Given the description of an element on the screen output the (x, y) to click on. 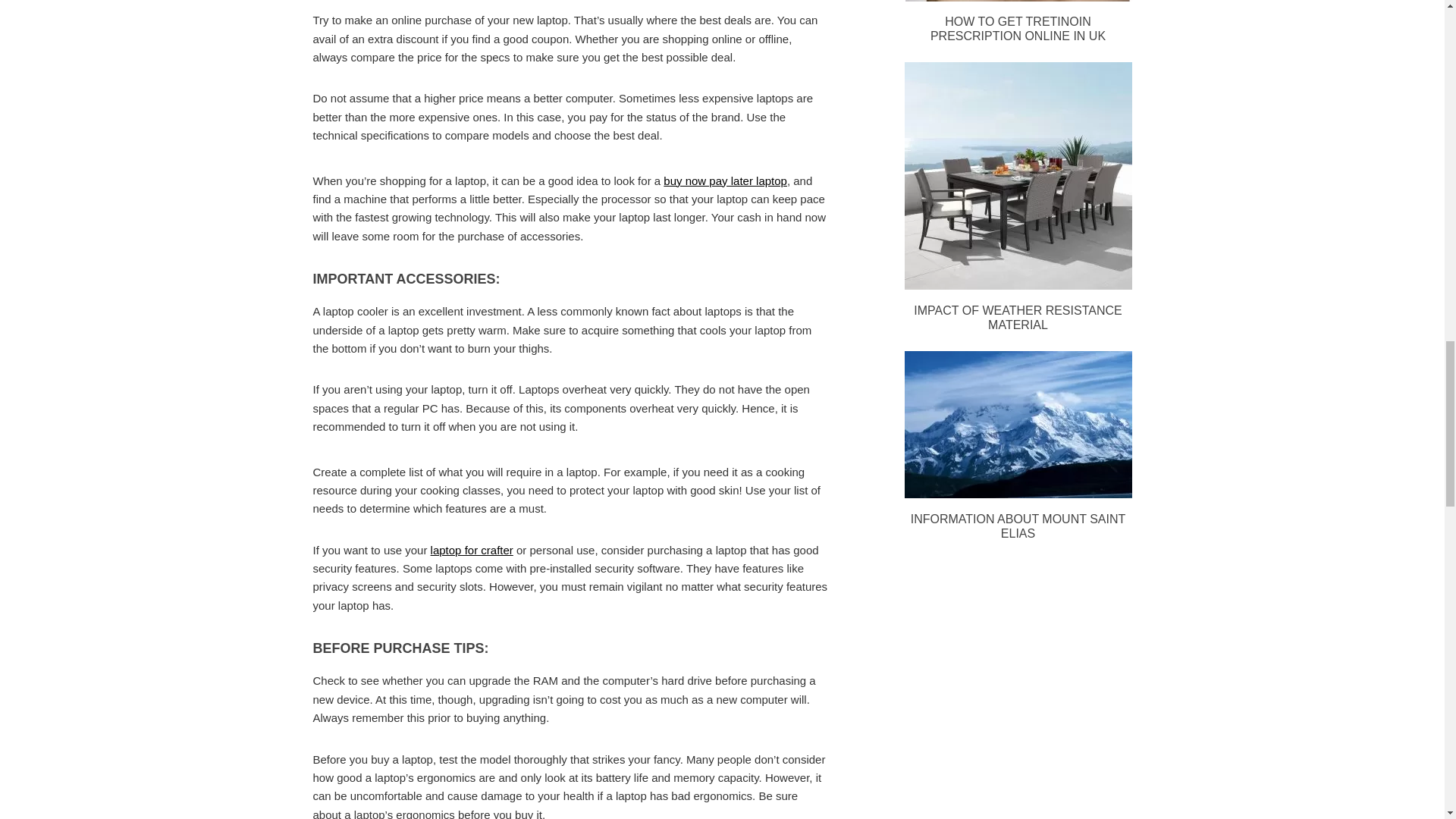
buy now pay later laptop (725, 180)
laptop for crafter (471, 549)
